Given the description of an element on the screen output the (x, y) to click on. 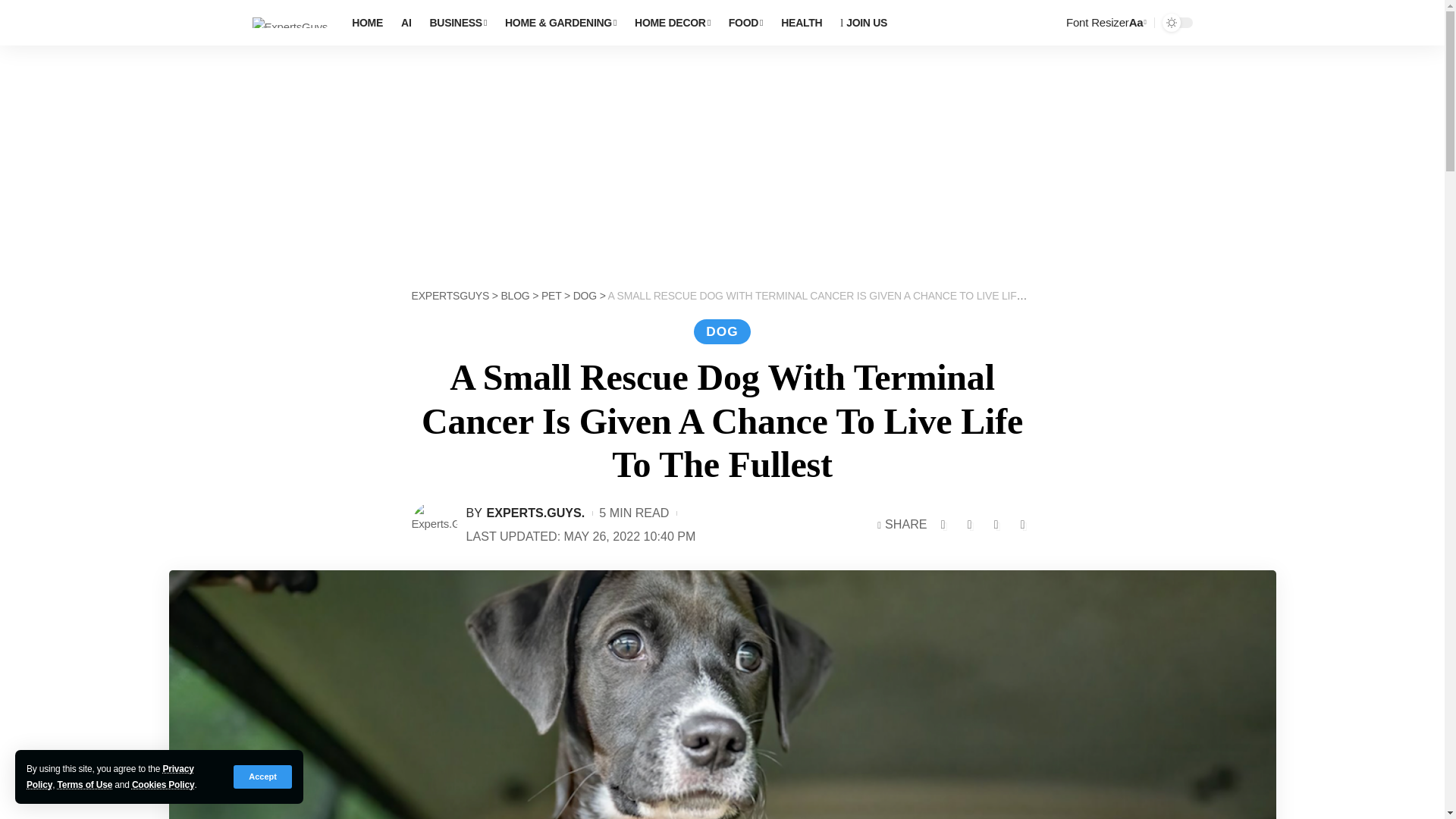
Accept (262, 776)
ExpertsGuys (289, 22)
HOME DECOR (672, 22)
HOME (366, 22)
BUSINESS (458, 22)
Privacy Policy (109, 776)
Cookies Policy (163, 784)
Terms of Use (84, 784)
